Given the description of an element on the screen output the (x, y) to click on. 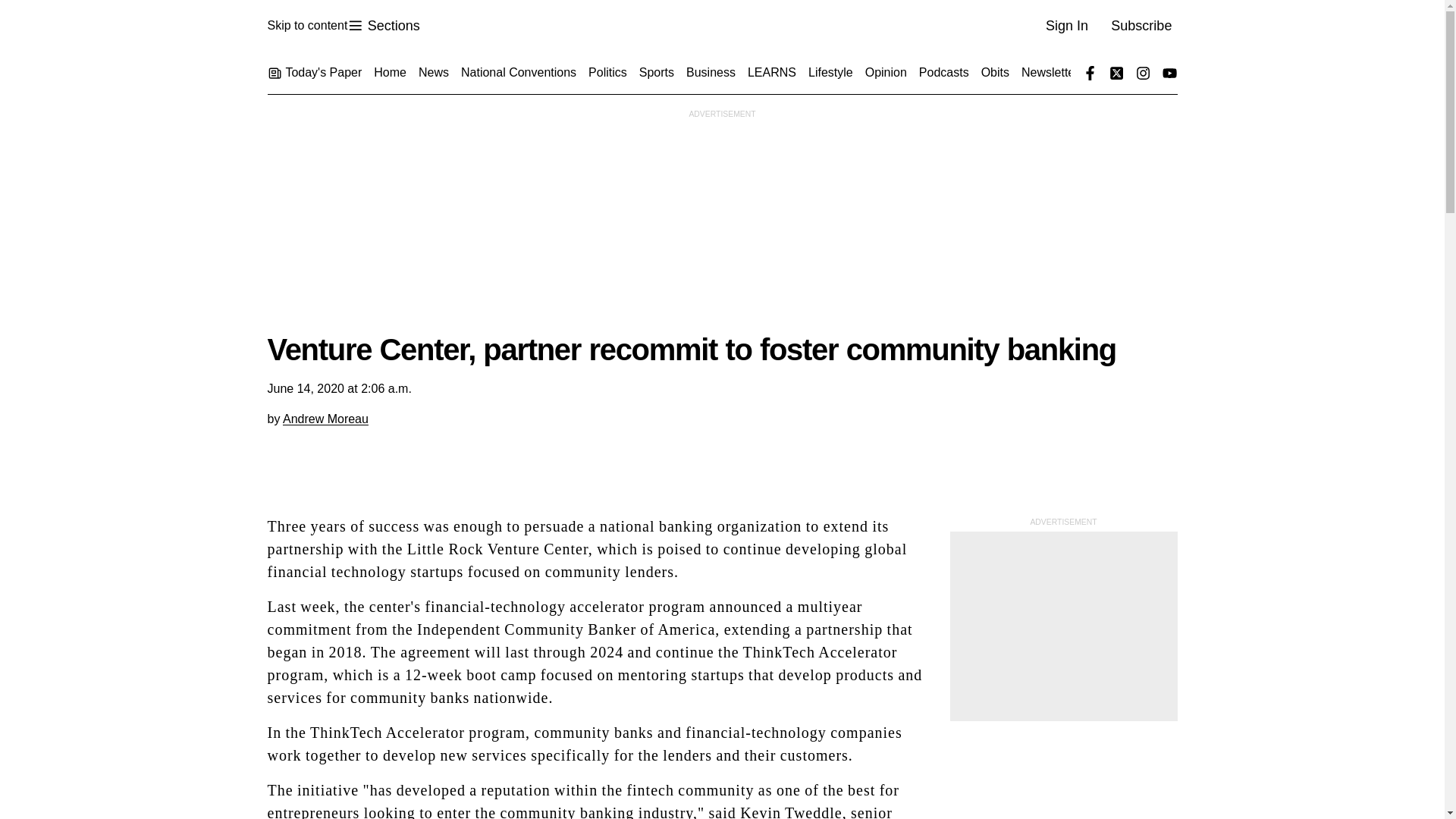
Skip to content (306, 25)
Arkansas Democrat Gazette (383, 25)
